Given the description of an element on the screen output the (x, y) to click on. 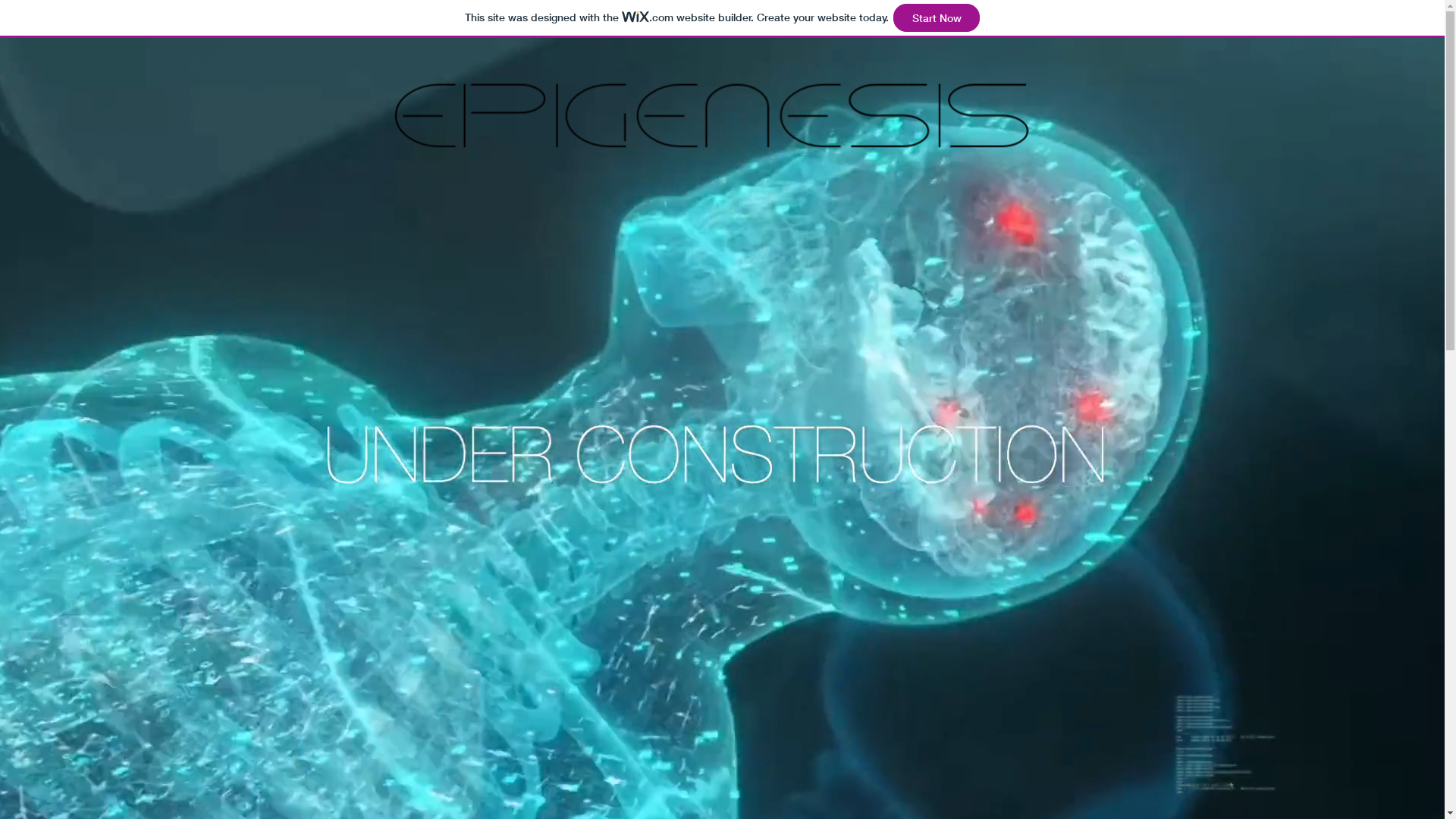
botox filler sydney leichhardt Element type: hover (712, 108)
